Given the description of an element on the screen output the (x, y) to click on. 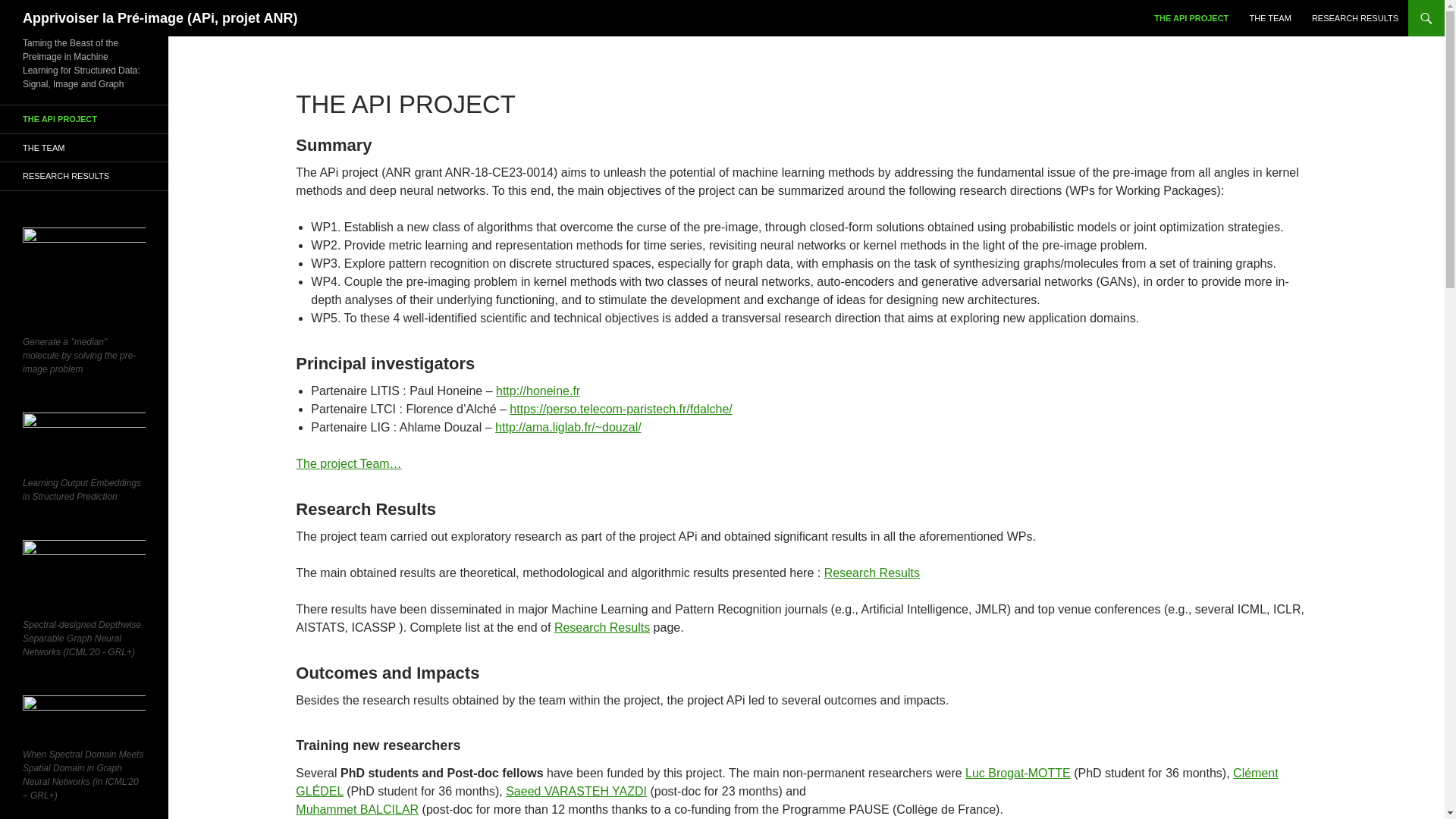
THE API PROJECT (84, 119)
THE API PROJECT (1190, 18)
Research Results (601, 626)
RESEARCH RESULTS (84, 176)
Luc Brogat-MOTTE (1017, 772)
Muhammet BALCILAR (357, 809)
RESEARCH RESULTS (1355, 18)
Saeed VARASTEH YAZDI (575, 790)
Research Results (872, 572)
THE TEAM (1270, 18)
